Given the description of an element on the screen output the (x, y) to click on. 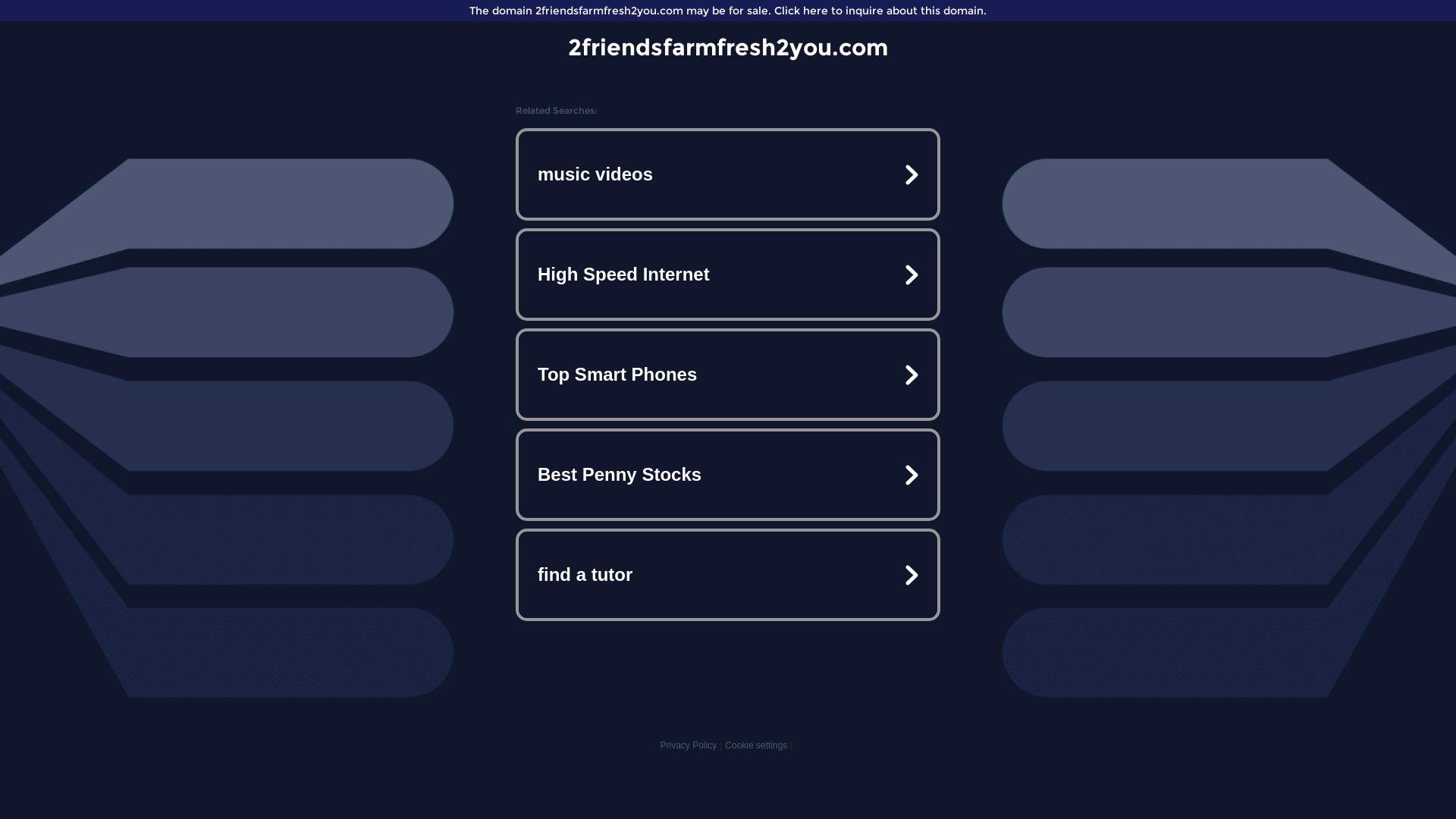
Cookie settings Element type: text (755, 745)
High Speed Internet Element type: text (727, 274)
find a tutor Element type: text (727, 574)
Privacy Policy Element type: text (687, 745)
2friendsfarmfresh2you.com Element type: text (727, 47)
Best Penny Stocks Element type: text (727, 474)
music videos Element type: text (727, 174)
Top Smart Phones Element type: text (727, 374)
